Given the description of an element on the screen output the (x, y) to click on. 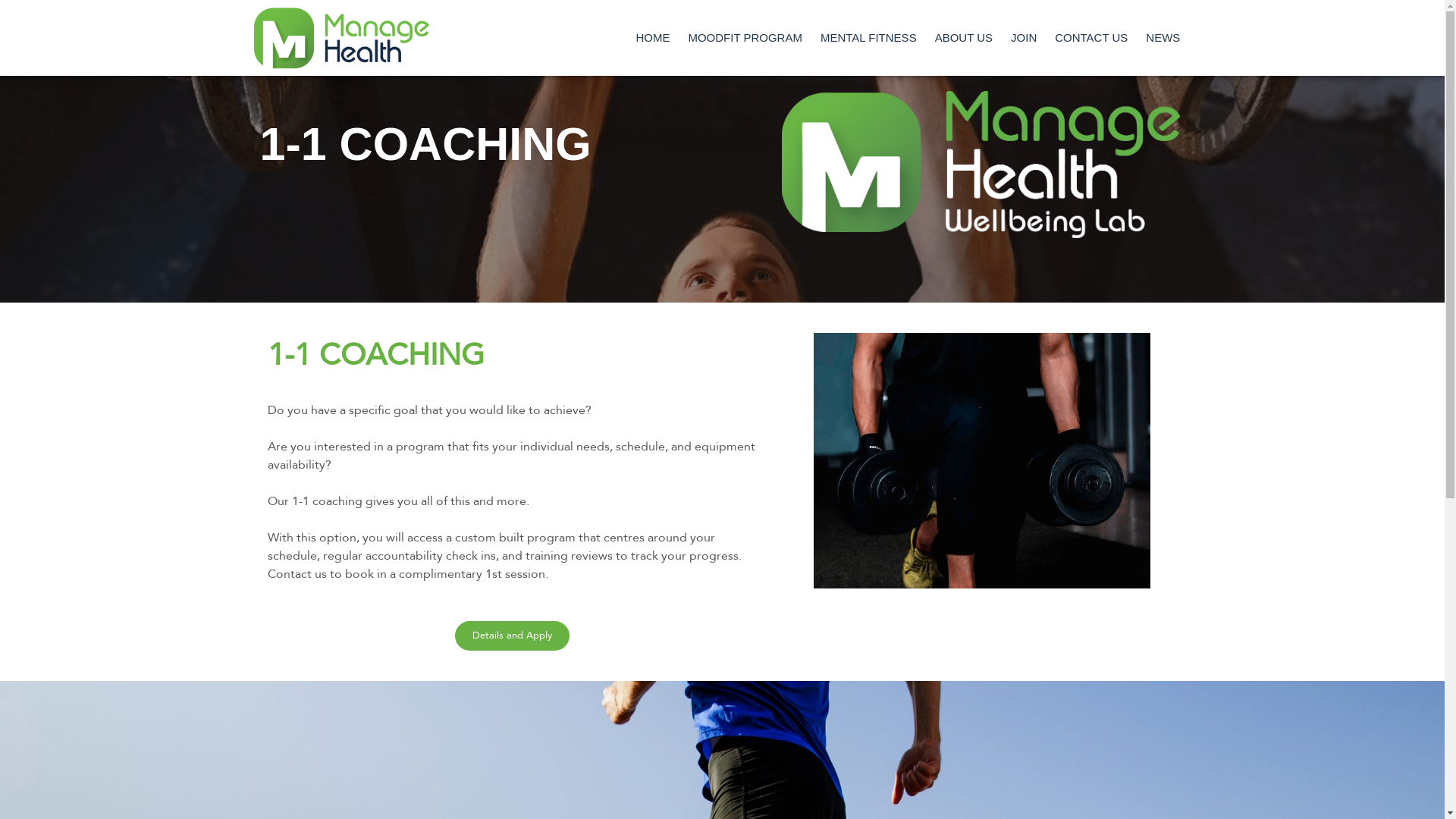
CONTACT US Element type: text (1090, 37)
JOIN Element type: text (1023, 37)
NEWS Element type: text (1162, 37)
MENTAL FITNESS Element type: text (868, 37)
Details and Apply Element type: text (512, 635)
ABOUT US Element type: text (963, 37)
MOODFIT PROGRAM Element type: text (744, 37)
HOME Element type: text (652, 37)
